Given the description of an element on the screen output the (x, y) to click on. 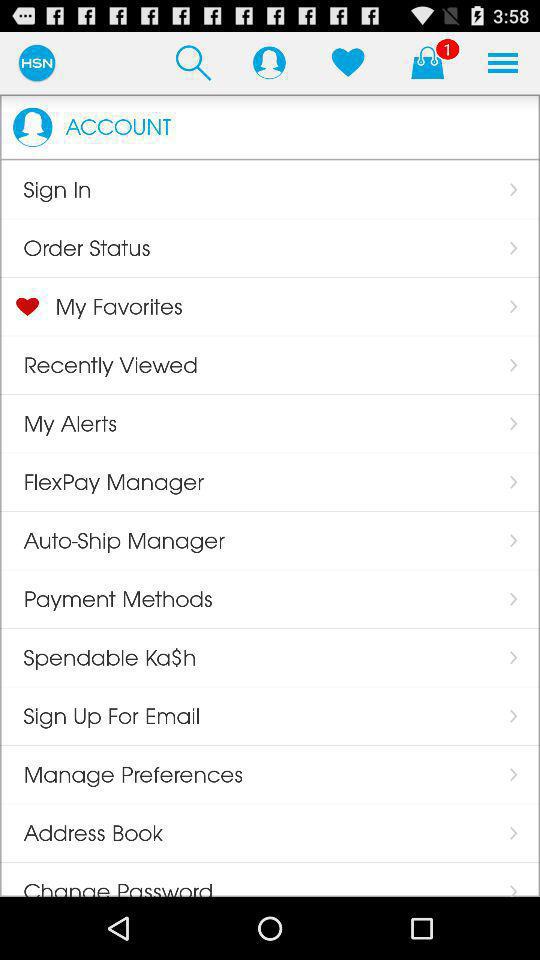
jump until the address book app (81, 833)
